Given the description of an element on the screen output the (x, y) to click on. 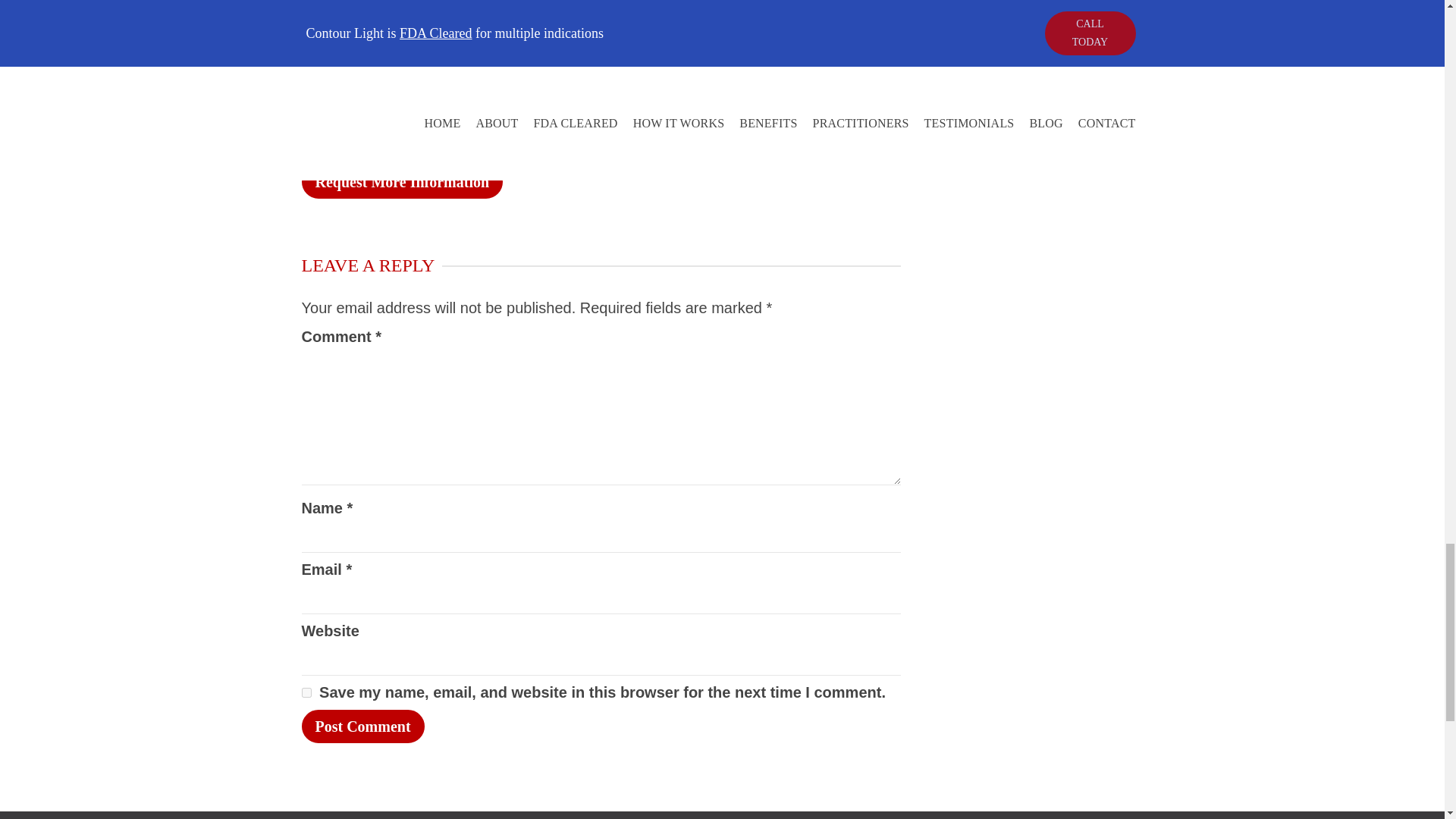
Request More Information (402, 182)
Post Comment (363, 726)
Request More Information (402, 182)
yes (306, 692)
